Given the description of an element on the screen output the (x, y) to click on. 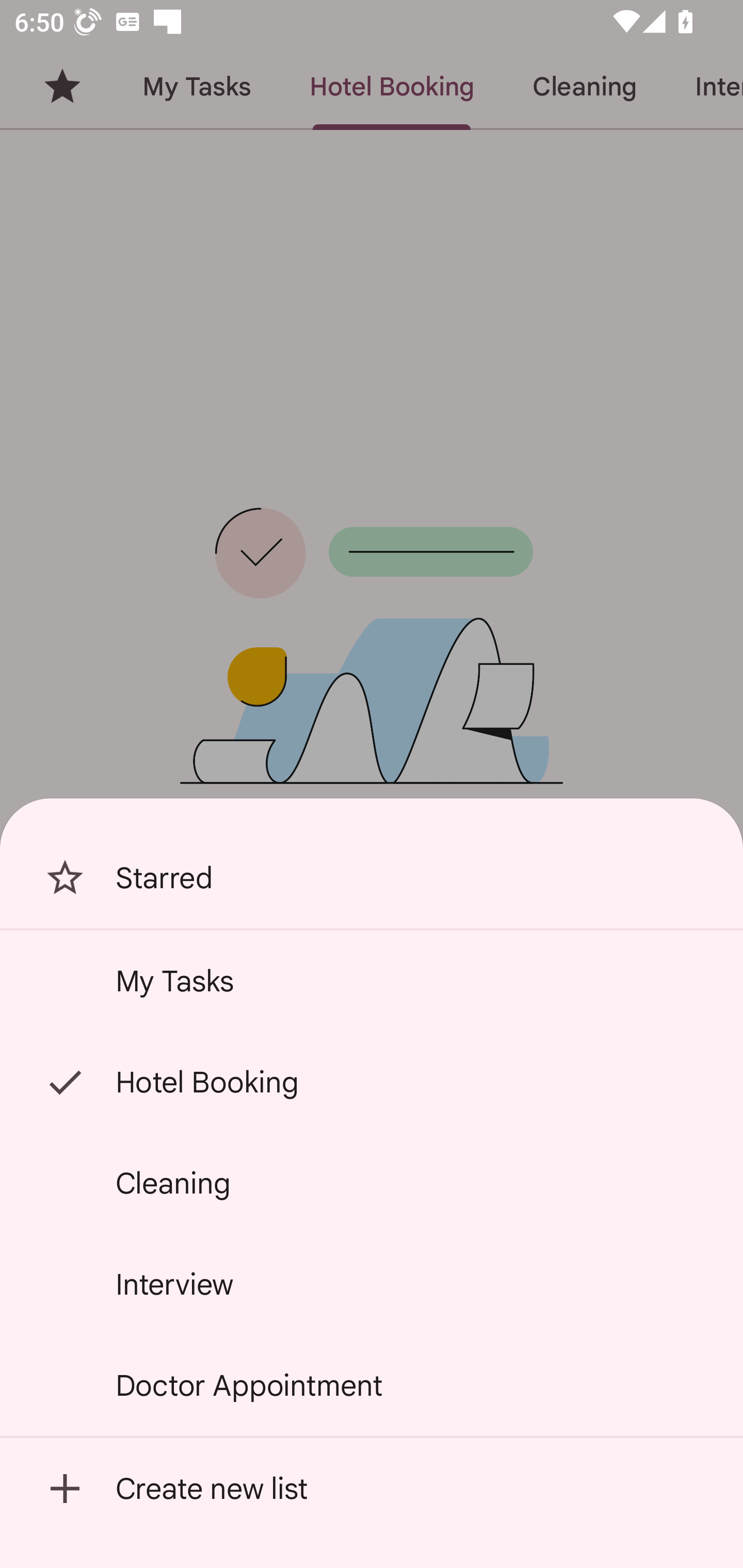
Starred (371, 877)
My Tasks (371, 980)
Hotel Booking (371, 1081)
Cleaning (371, 1183)
Interview (371, 1284)
Doctor Appointment (371, 1385)
Create new list (371, 1488)
